Given the description of an element on the screen output the (x, y) to click on. 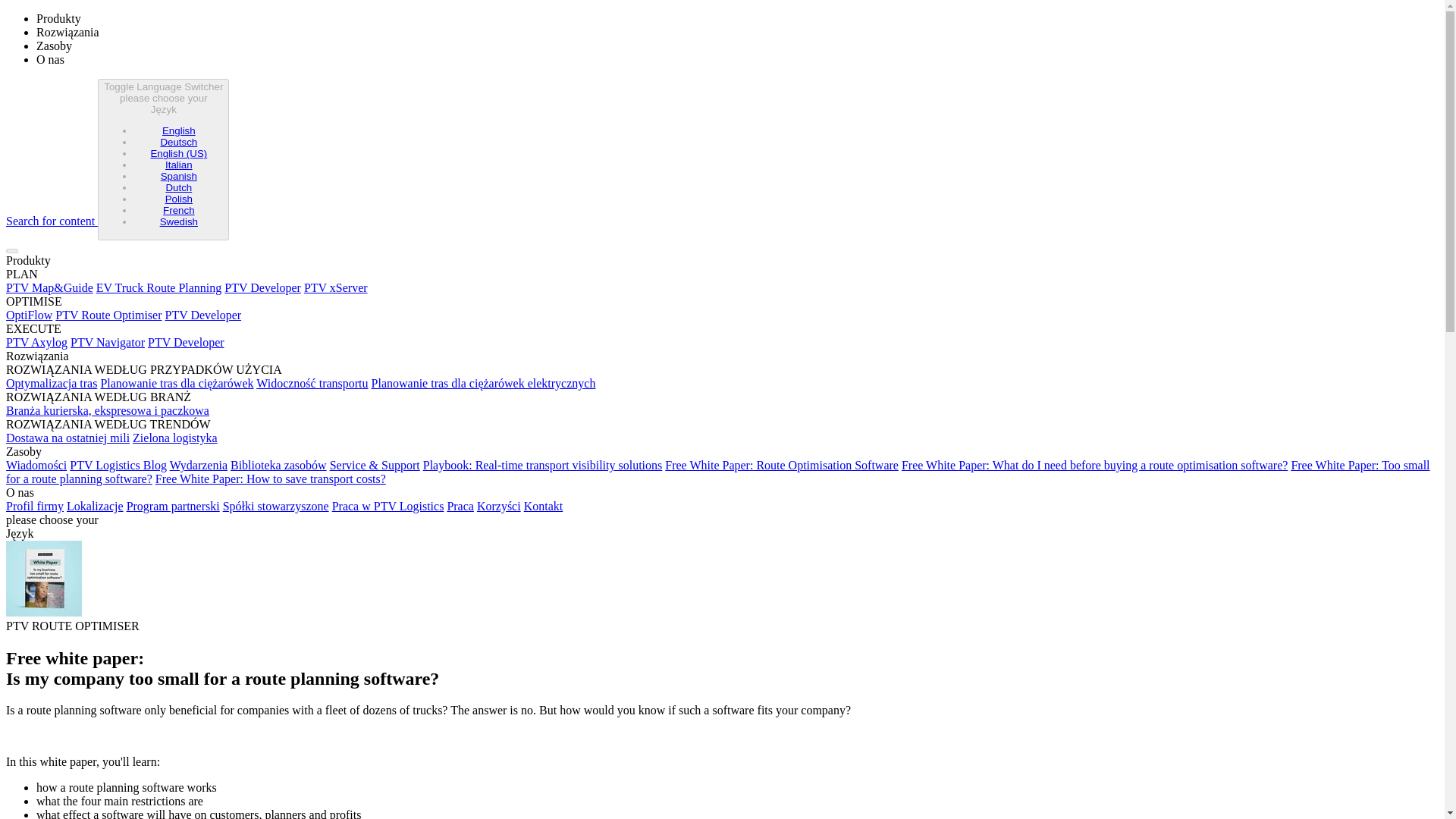
PTV Route Optimiser (108, 314)
Search for content (51, 220)
OptiFlow (28, 314)
PTV Developer (186, 341)
PTV Logistics Blog (118, 464)
Wydarzenia (198, 464)
PTV Axylog (35, 341)
Free White Paper: How to save transport costs? (270, 478)
Free White Paper: Too small for a route planning software? (717, 471)
Spanish (178, 175)
Zielona logistyka (174, 437)
Swedish (179, 221)
PTV Developer (203, 314)
Free White Paper: Route Optimisation Software (781, 464)
